Given the description of an element on the screen output the (x, y) to click on. 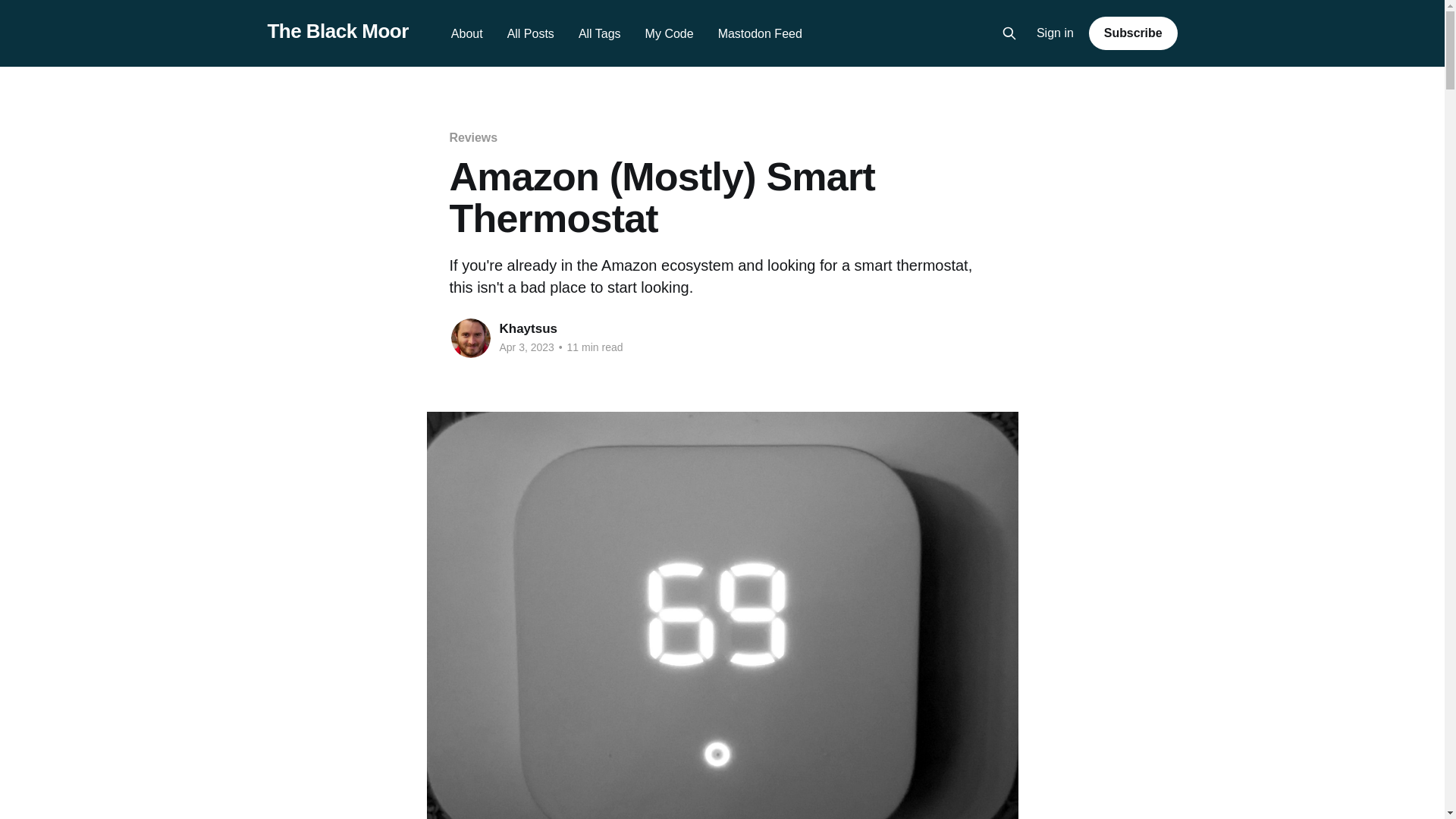
Sign in (1055, 33)
About (467, 33)
Mastodon Feed (759, 33)
All Posts (530, 33)
My Code (669, 33)
All Tags (599, 33)
Subscribe (1133, 32)
The Black Moor (336, 31)
Khaytsus (528, 328)
Reviews (472, 137)
